Given the description of an element on the screen output the (x, y) to click on. 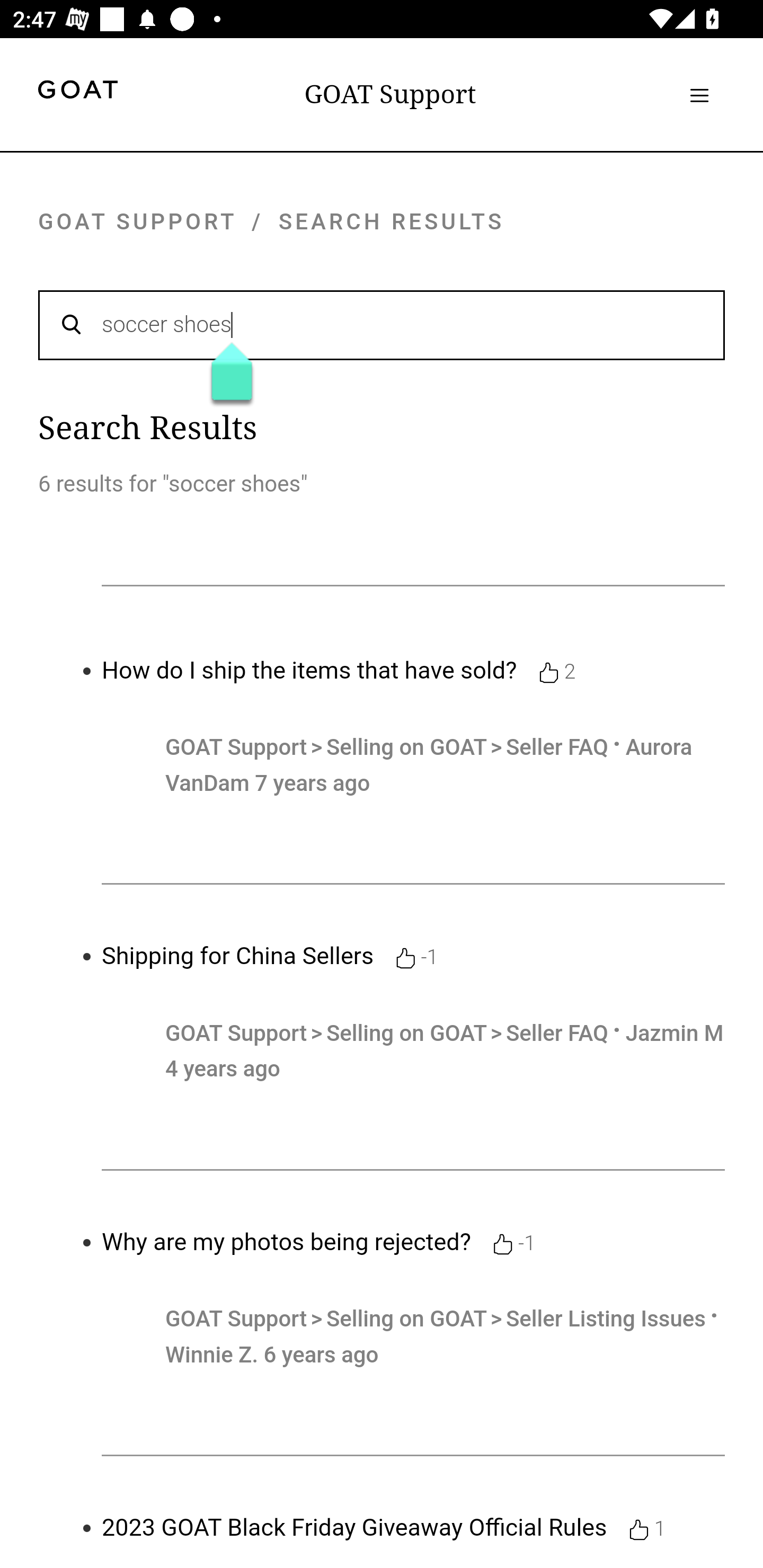
goat header logo (77, 92)
Toggle navigation menu (698, 94)
GOAT Support (389, 94)
GOAT SUPPORT (137, 221)
soccer shoes (381, 324)
How do I ship the items that have sold? (309, 670)
GOAT Support (236, 746)
Selling on GOAT  (408, 746)
Seller FAQ (556, 746)
Shipping for China Sellers (238, 955)
GOAT Support (236, 1033)
Selling on GOAT  (408, 1033)
Seller FAQ (556, 1033)
Why are my photos being rejected? (286, 1241)
GOAT Support (236, 1319)
Selling on GOAT  (408, 1319)
Seller Listing Issues (605, 1319)
2023 GOAT Black Friday Giveaway Official Rules (354, 1527)
